Given the description of an element on the screen output the (x, y) to click on. 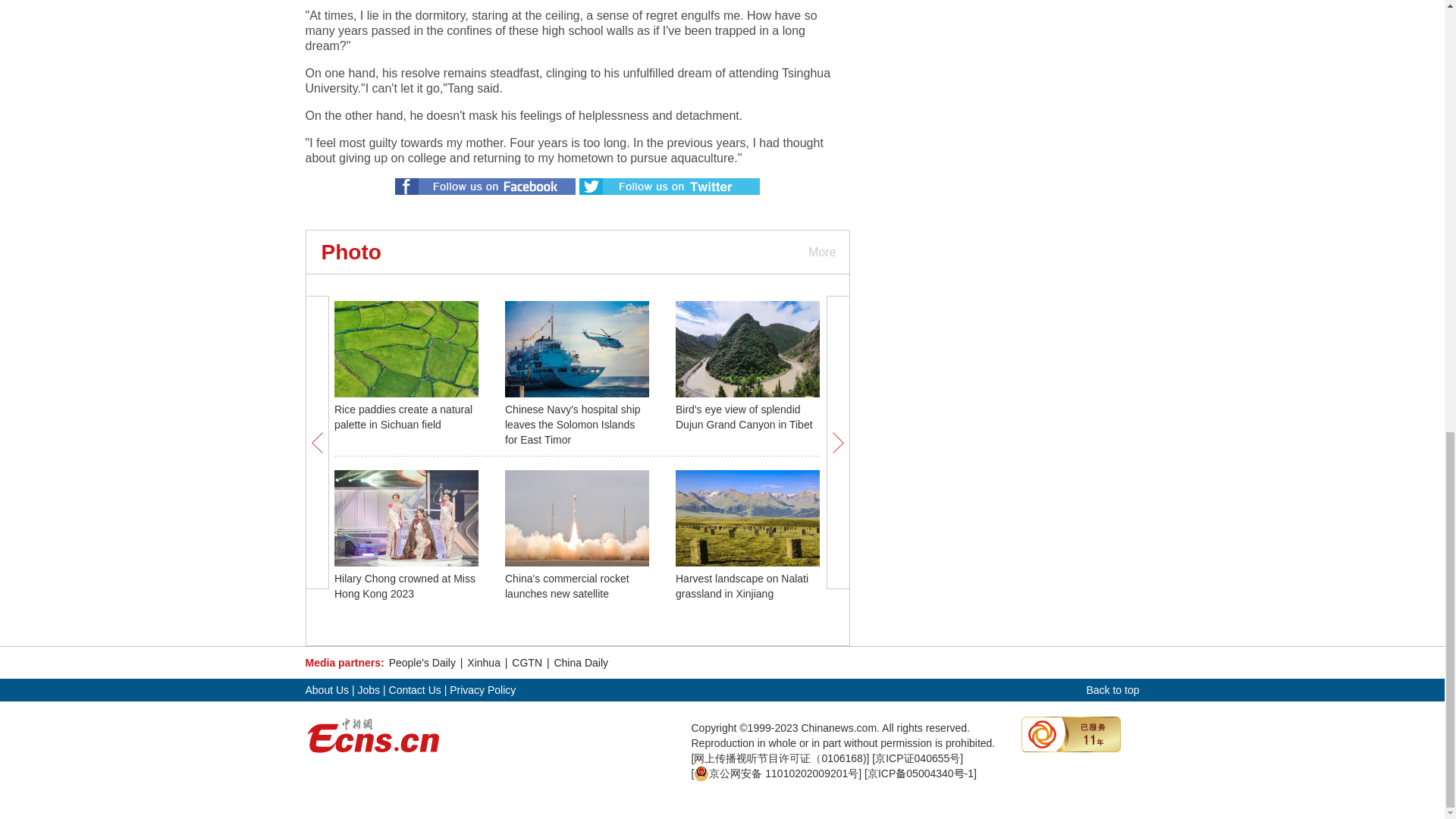
Hilary Chong crowned at Miss Hong Kong 2023 (405, 585)
Harvest landscape on Nalati grassland in Xinjiang (741, 585)
Rice paddies create a natural palette in Sichuan field (402, 416)
China's commercial rocket launches new satellite (566, 585)
Bird's eye view of splendid Dujun Grand Canyon in Tibet (743, 416)
More (820, 251)
